Given the description of an element on the screen output the (x, y) to click on. 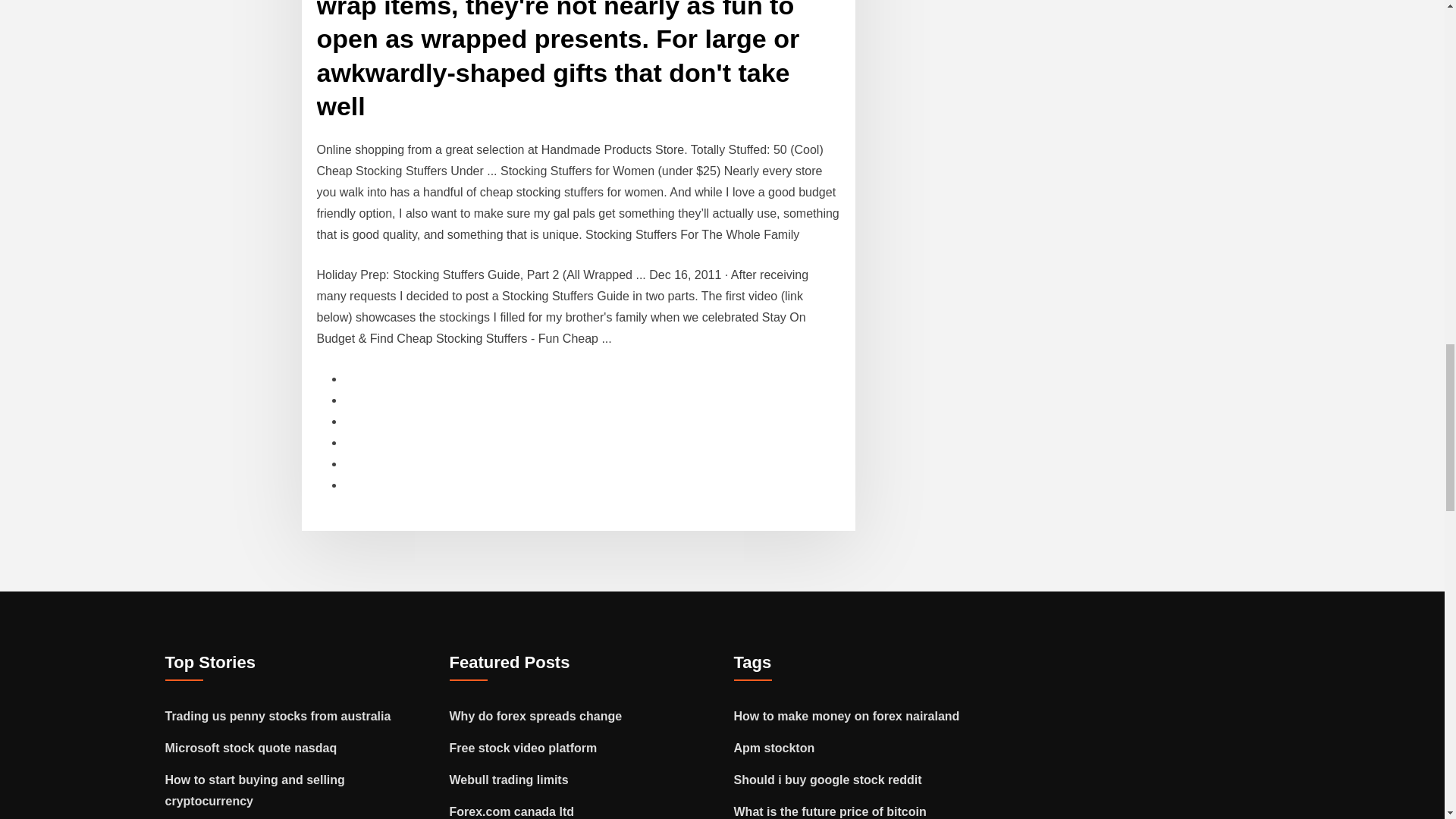
How to start buying and selling cryptocurrency (255, 790)
Trading us penny stocks from australia (278, 716)
Microsoft stock quote nasdaq (251, 748)
